Given the description of an element on the screen output the (x, y) to click on. 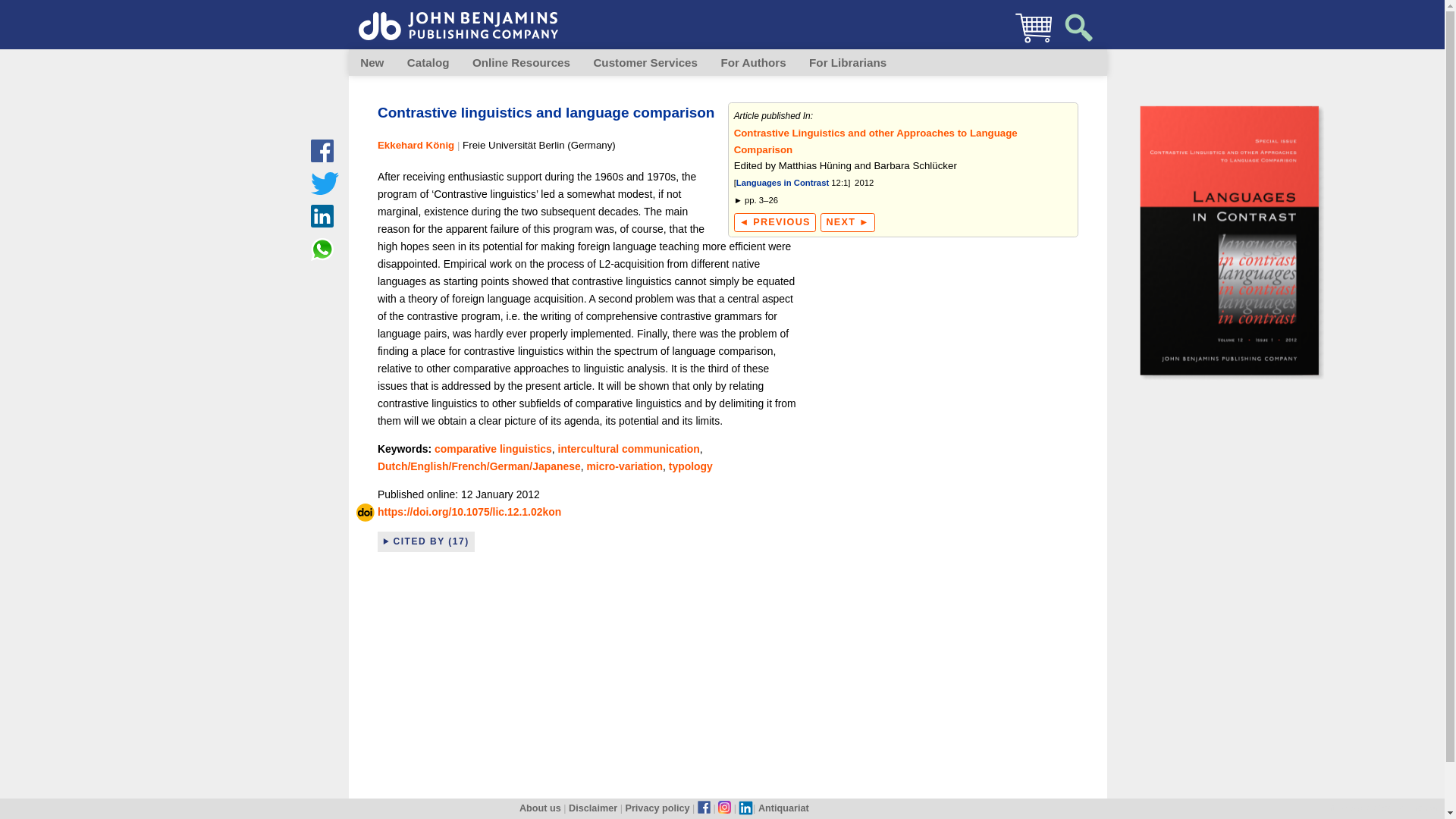
New (372, 62)
Catalog (428, 62)
New (371, 62)
Catalog (428, 62)
